Given the description of an element on the screen output the (x, y) to click on. 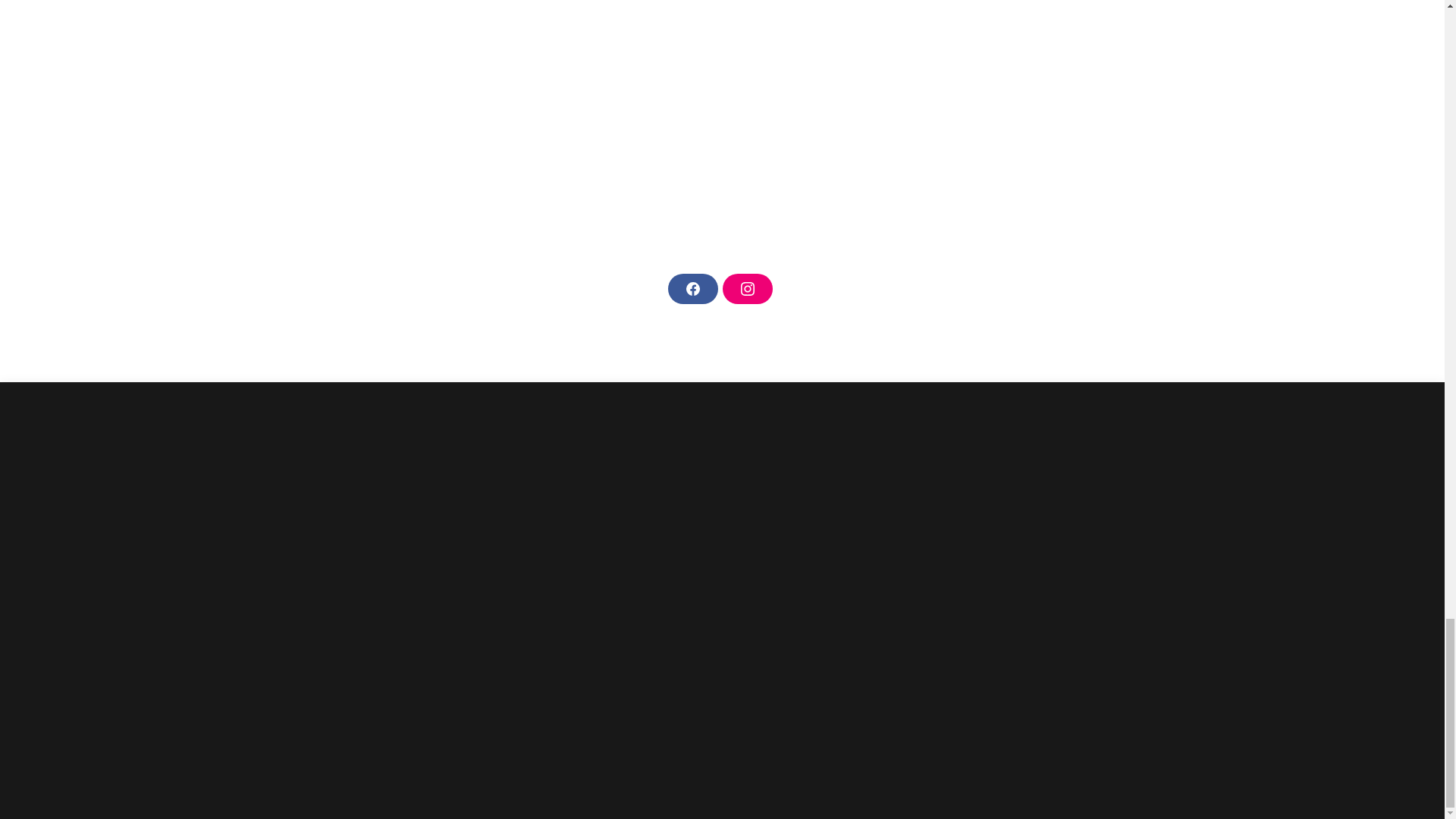
Facebook (691, 288)
Instagram (746, 288)
Instagram (746, 288)
Facebook (691, 288)
